Given the description of an element on the screen output the (x, y) to click on. 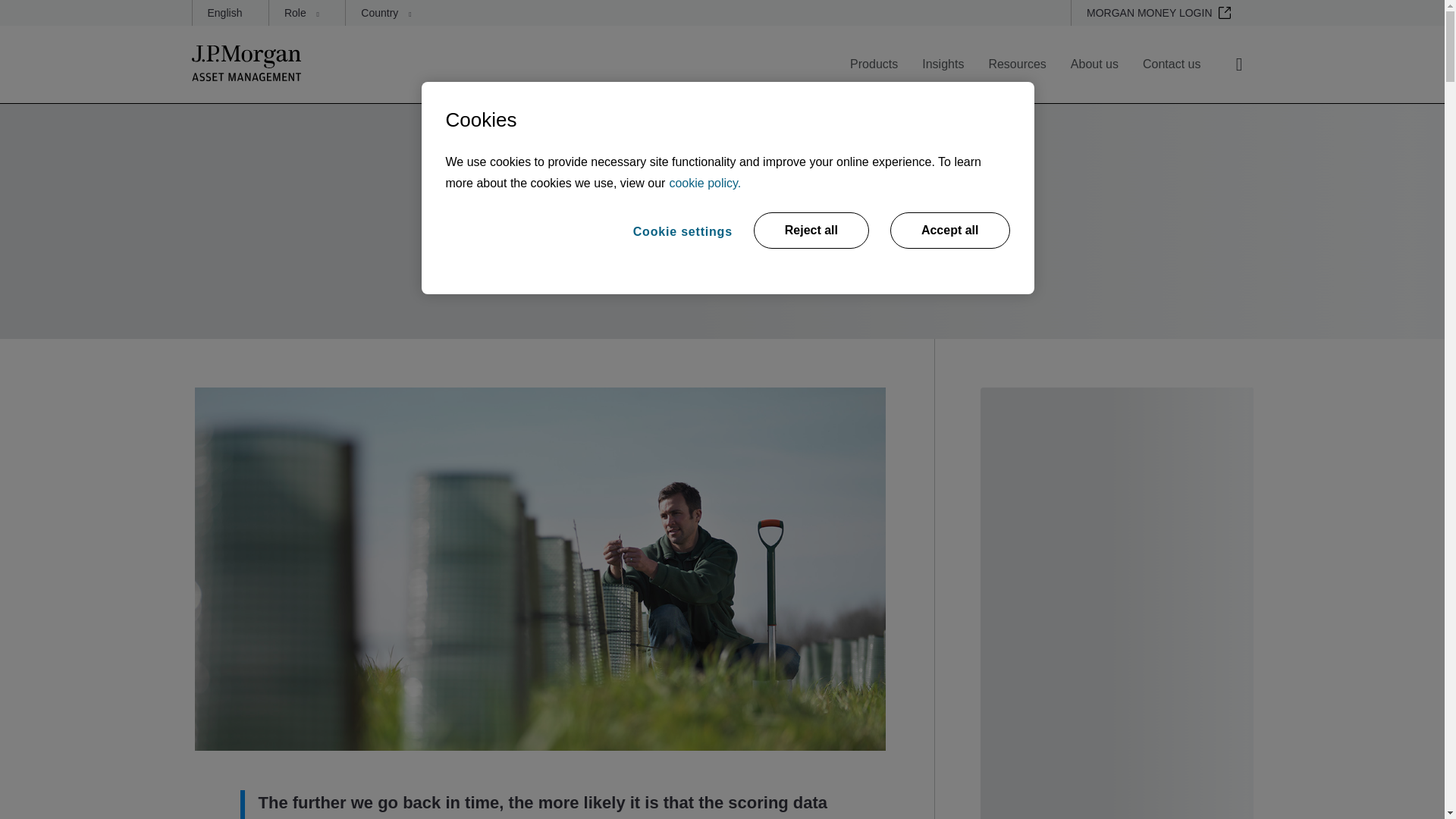
Insights (942, 74)
MORGAN MONEY LOGIN (1161, 12)
Resources (1016, 74)
Products (874, 74)
About us (1094, 74)
